Given the description of an element on the screen output the (x, y) to click on. 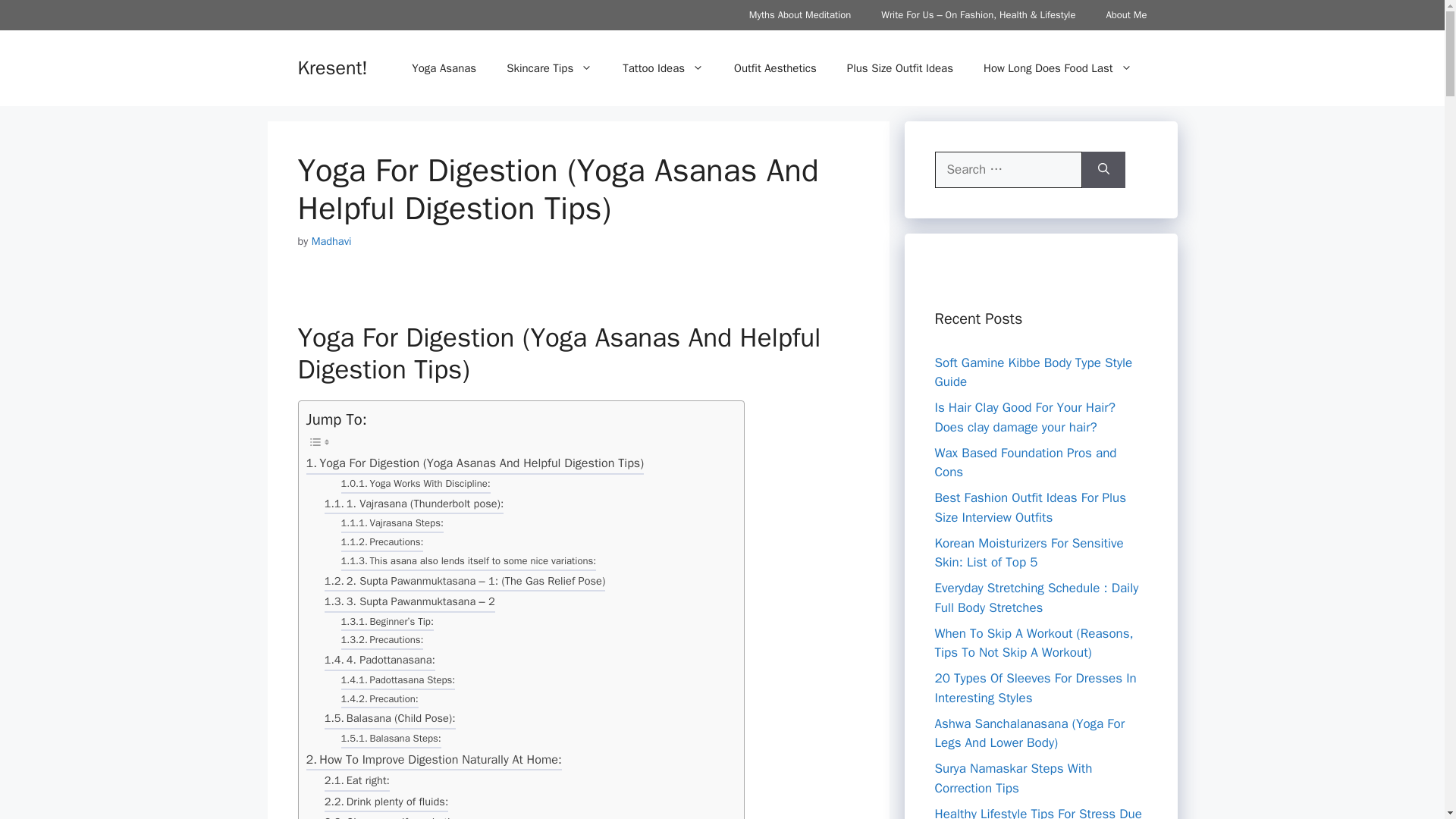
Precautions: (381, 641)
Madhavi (331, 241)
4. Padottanasana: (379, 661)
Precaution: (379, 700)
Skincare Tips (549, 67)
How Long Does Food Last (1057, 67)
Padottasana Steps: (397, 681)
Vajrasana Steps: (392, 524)
Give yourself ample time: (396, 816)
Drink plenty of fluids: (386, 803)
Precaution: (379, 700)
Drink plenty of fluids: (386, 803)
Balasana Steps: (390, 740)
Balasana Steps: (390, 740)
Vajrasana Steps: (392, 524)
